Given the description of an element on the screen output the (x, y) to click on. 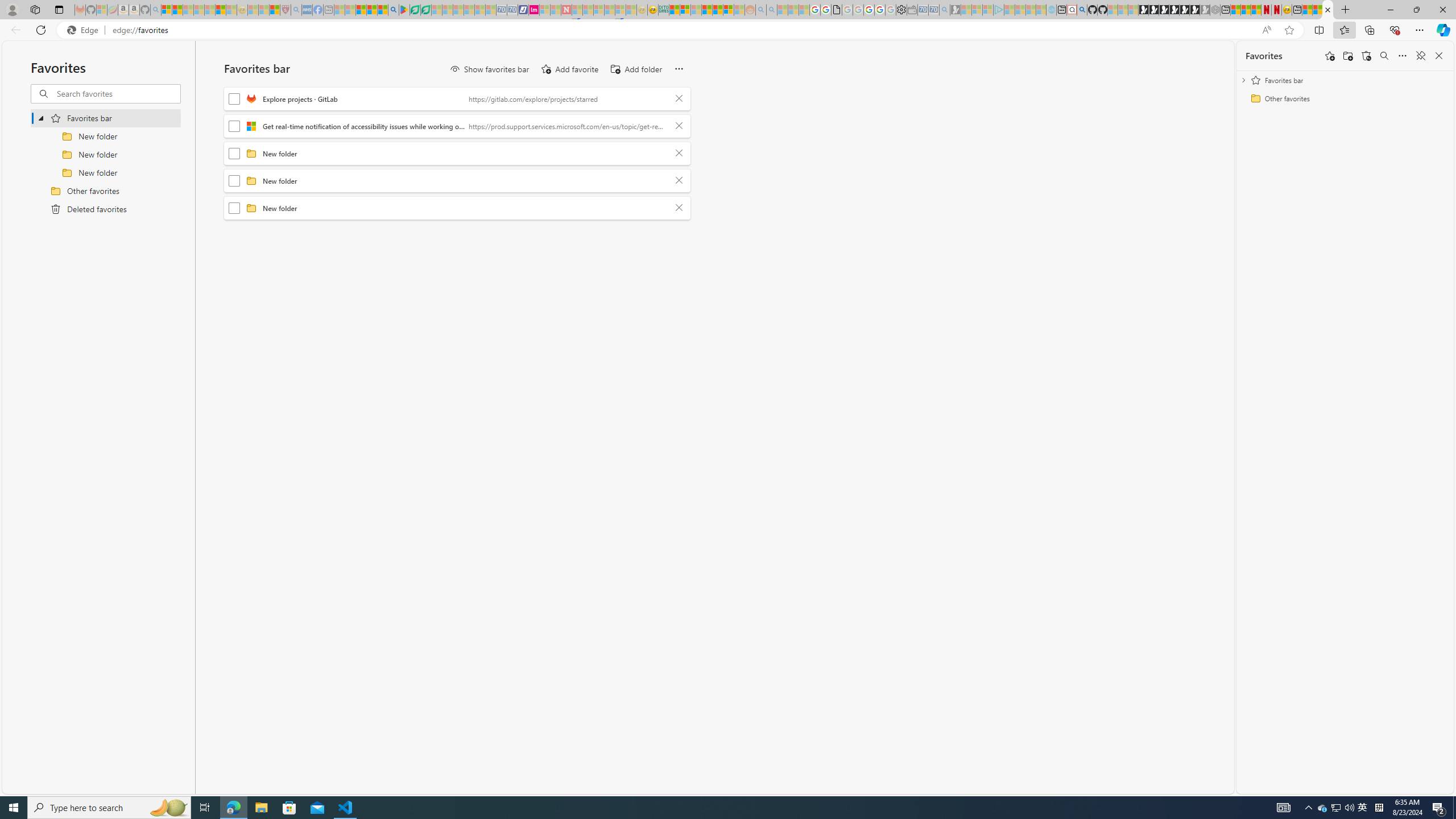
Add this page to favorites (1330, 55)
Add favorite (569, 69)
Jobs - lastminute.com Investor Portal (534, 9)
Add folder (1347, 55)
Play Cave FRVR in your browser | Games from Microsoft Start (1163, 9)
Microsoft Start Gaming - Sleeping (954, 9)
Play Free Online Games | Games from Microsoft Start (1143, 9)
Show favorites bar (488, 69)
